Given the description of an element on the screen output the (x, y) to click on. 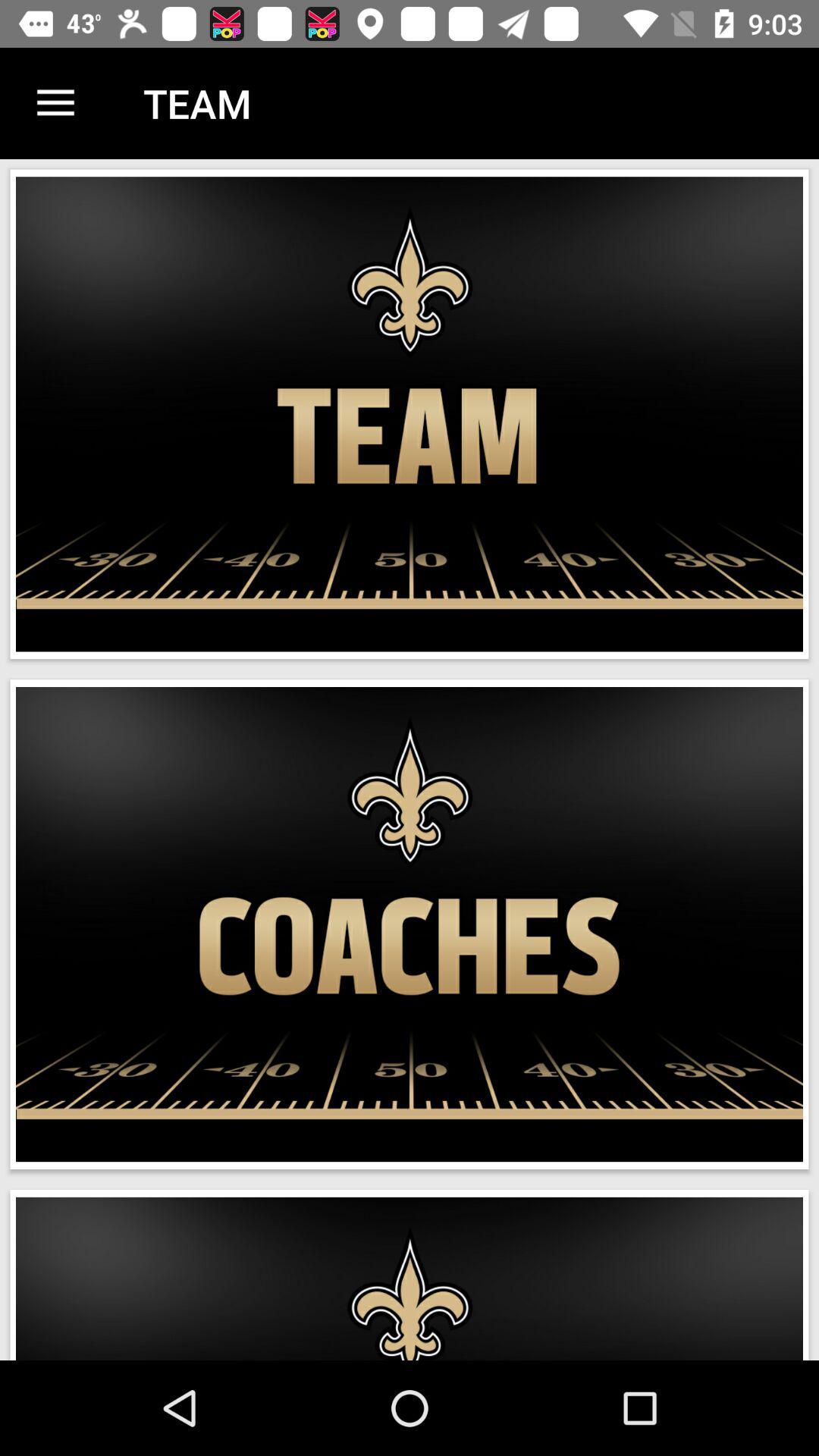
turn on icon to the left of team icon (55, 103)
